Given the description of an element on the screen output the (x, y) to click on. 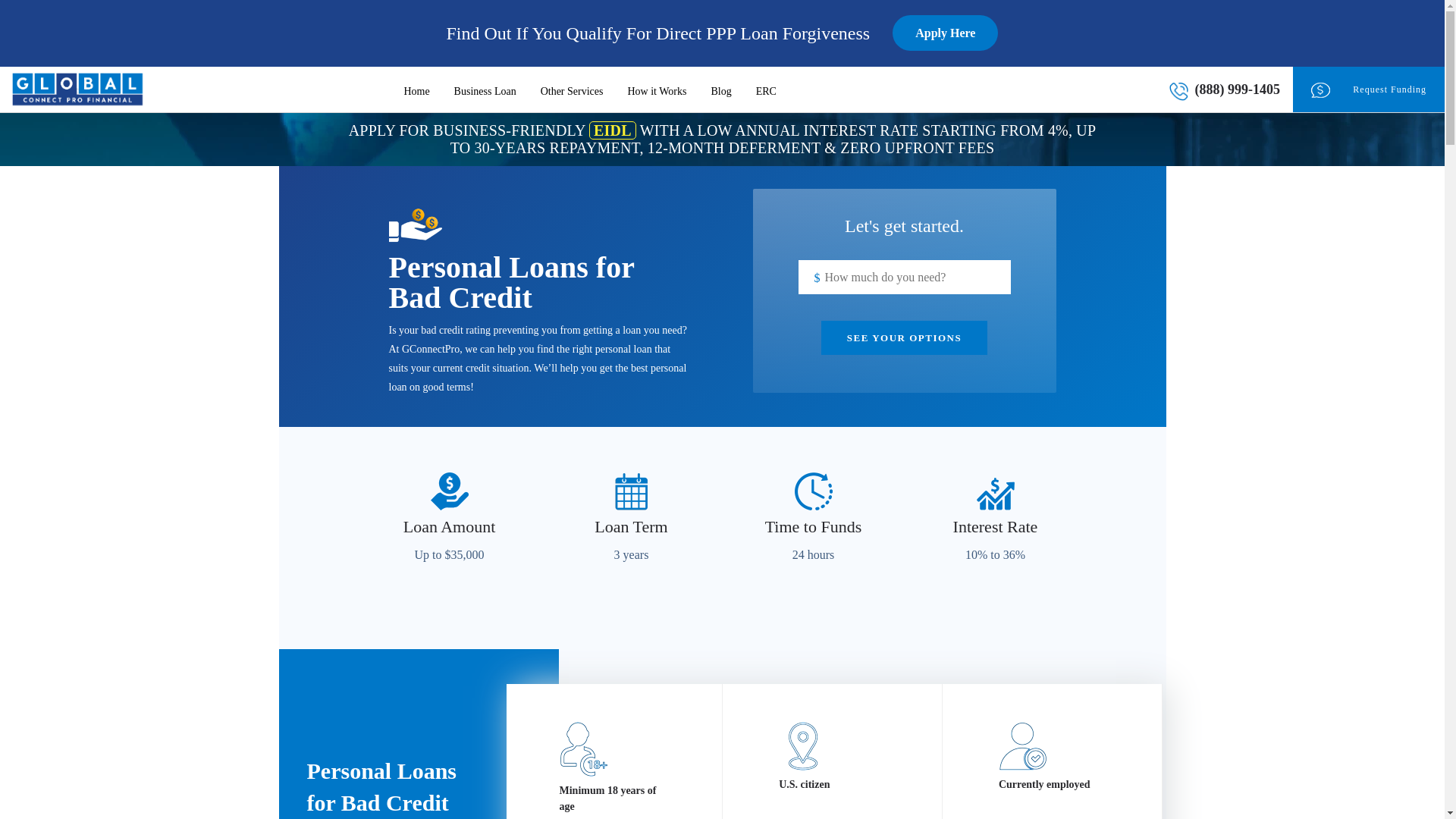
Business Loan (485, 89)
SEE YOUR OPTIONS (904, 337)
Other Services (572, 89)
How it Works (656, 89)
Apply Here (944, 32)
